Given the description of an element on the screen output the (x, y) to click on. 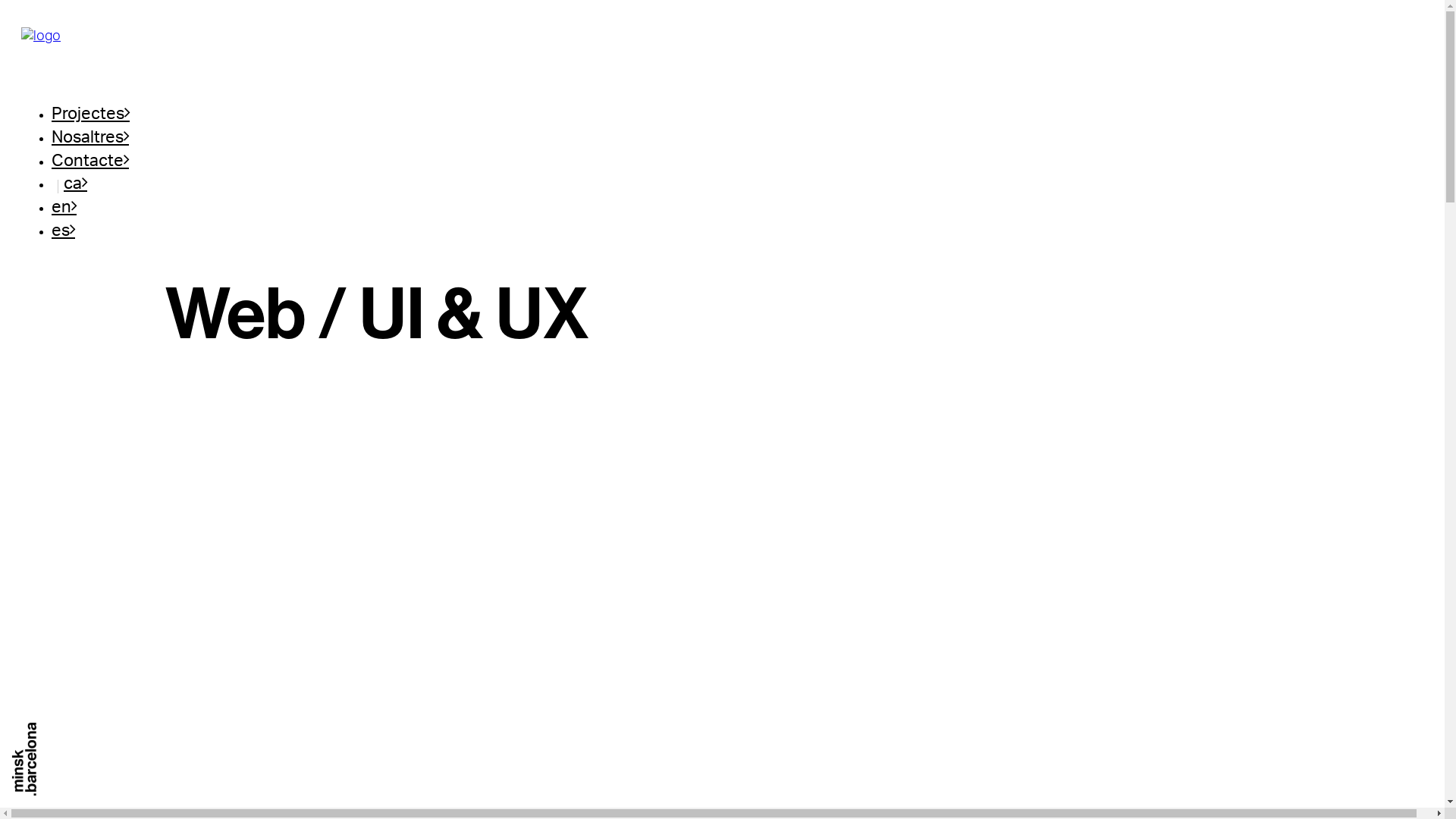
Nosaltres Element type: text (89, 136)
en Element type: text (63, 206)
Contacte Element type: text (89, 160)
Projectes Element type: text (90, 113)
es Element type: text (63, 230)
ca Element type: text (75, 183)
